Given the description of an element on the screen output the (x, y) to click on. 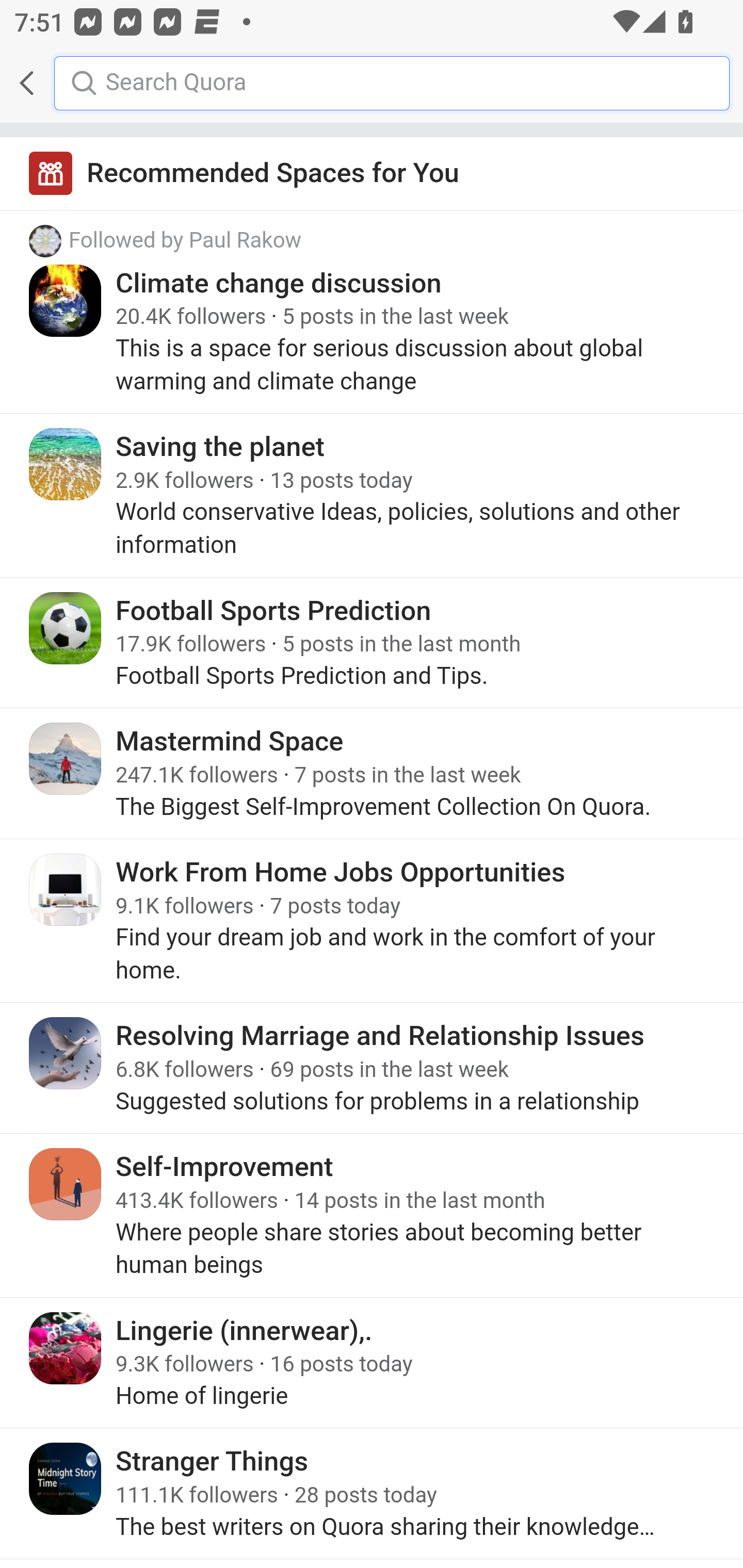
Me Home Search Add (371, 82)
Icon for Climate change discussion (65, 300)
Icon for Saving the planet (65, 464)
Icon for Football Sports Prediction (65, 627)
Icon for Mastermind Space (65, 759)
Icon for Work From Home Jobs Opportunities (65, 889)
Icon for Self-Improvement (65, 1184)
Icon for Lingerie (innerwear),. (65, 1347)
Icon for Stranger Things (65, 1479)
